Given the description of an element on the screen output the (x, y) to click on. 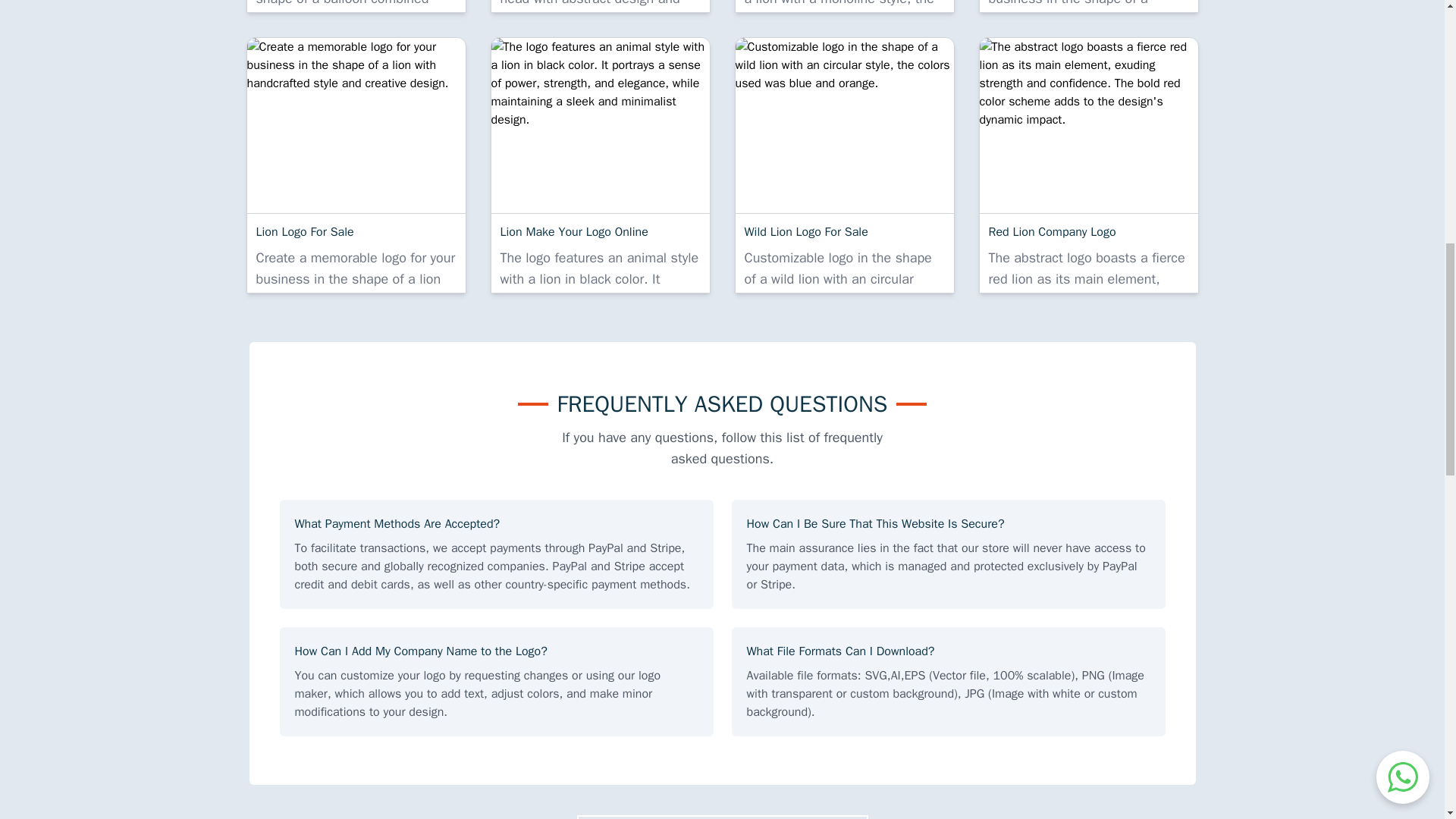
Wild Lion Logo For Sale (844, 124)
Red Lion Company Logo (1088, 124)
Lion Make Your Logo Online (601, 124)
Lion Logo For Sale (356, 124)
